Given the description of an element on the screen output the (x, y) to click on. 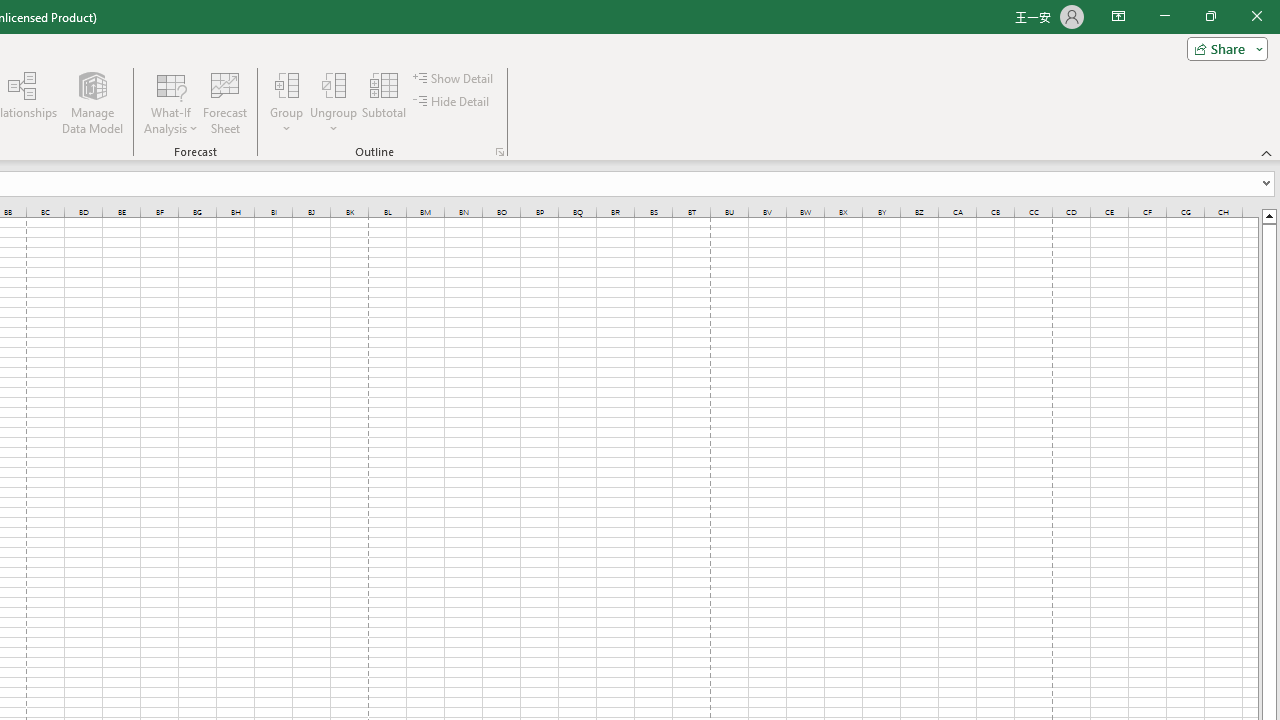
Manage Data Model (92, 102)
Show Detail (454, 78)
